Given the description of an element on the screen output the (x, y) to click on. 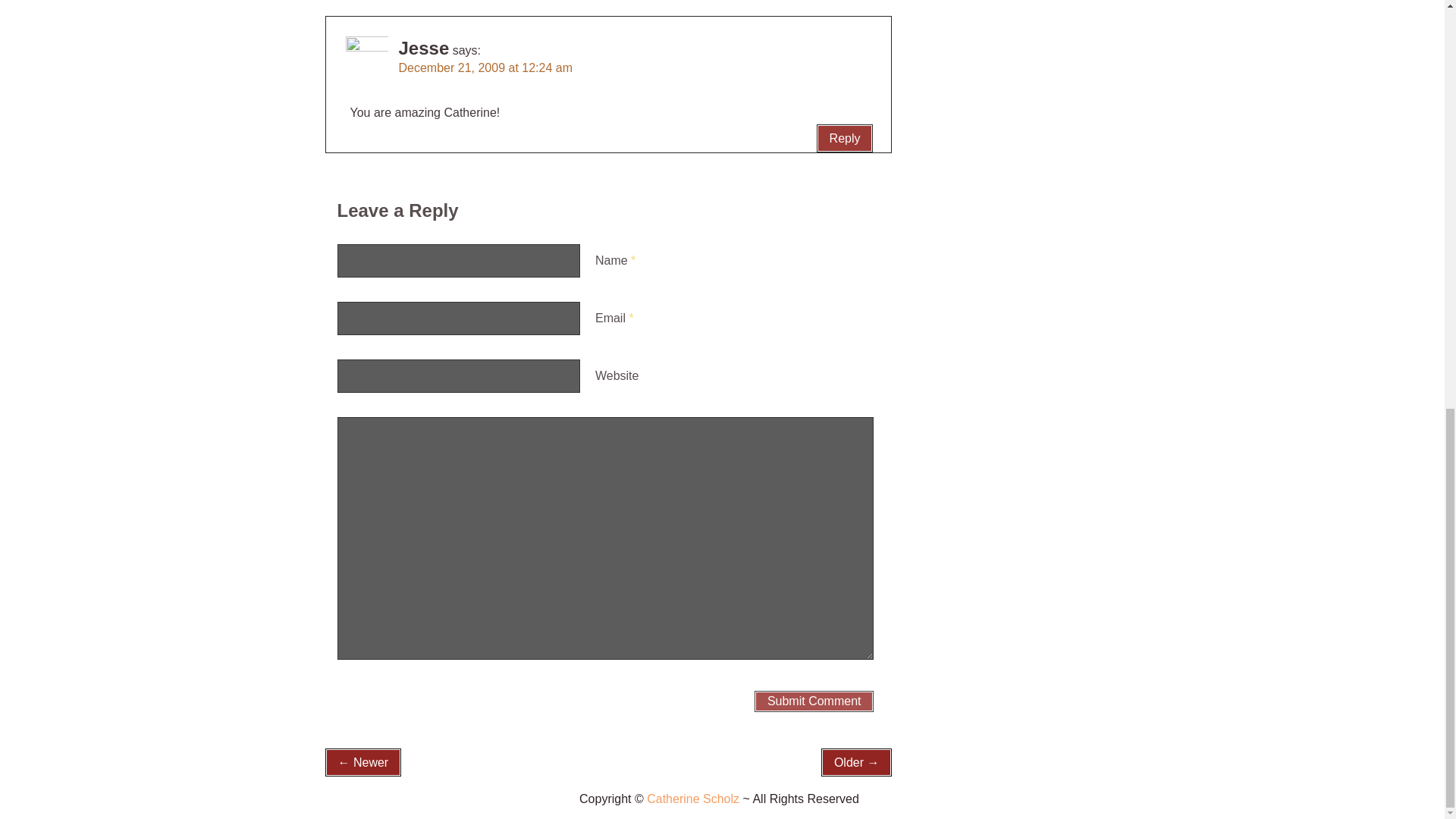
Submit Comment (814, 701)
Connect (692, 798)
Reply (844, 138)
Submit Comment (814, 701)
December 21, 2009 at 12:24 am (485, 67)
